Given the description of an element on the screen output the (x, y) to click on. 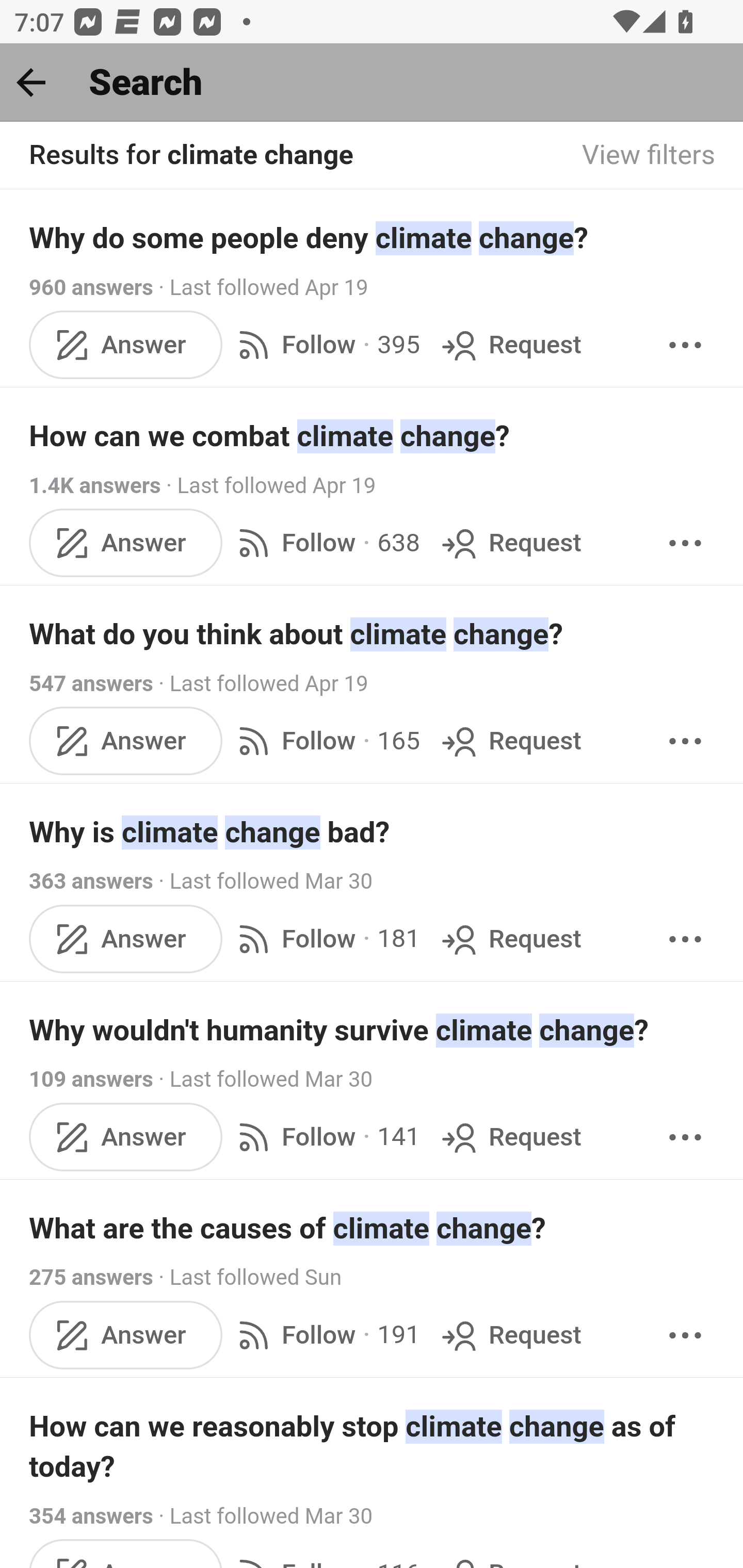
Back Search (371, 82)
Back (30, 82)
View filters (648, 155)
Why do some people deny climate change? (372, 237)
960 answers 960  answers (90, 287)
Answer (125, 343)
Follow · 395 (324, 343)
Request (509, 343)
More (684, 343)
How can we combat climate change? (372, 436)
1.4K answers 1.4K  answers (95, 484)
Answer (125, 543)
Follow · 638 (324, 543)
Request (509, 543)
More (684, 543)
What do you think about climate change? (372, 634)
547 answers 547  answers (90, 684)
Answer (125, 741)
Follow · 165 (324, 741)
Request (509, 741)
More (684, 741)
Why is climate change bad? (372, 832)
363 answers 363  answers (90, 881)
Answer (125, 939)
Follow · 181 (324, 939)
Request (509, 939)
More (684, 939)
Why wouldn't humanity survive climate change? (372, 1029)
109 answers 109  answers (90, 1079)
Answer (125, 1137)
Follow · 141 (324, 1137)
Request (509, 1137)
More (684, 1137)
What are the causes of climate change? (372, 1227)
275 answers 275  answers (90, 1277)
Answer (125, 1334)
Follow · 191 (324, 1334)
Request (509, 1334)
More (684, 1334)
